Given the description of an element on the screen output the (x, y) to click on. 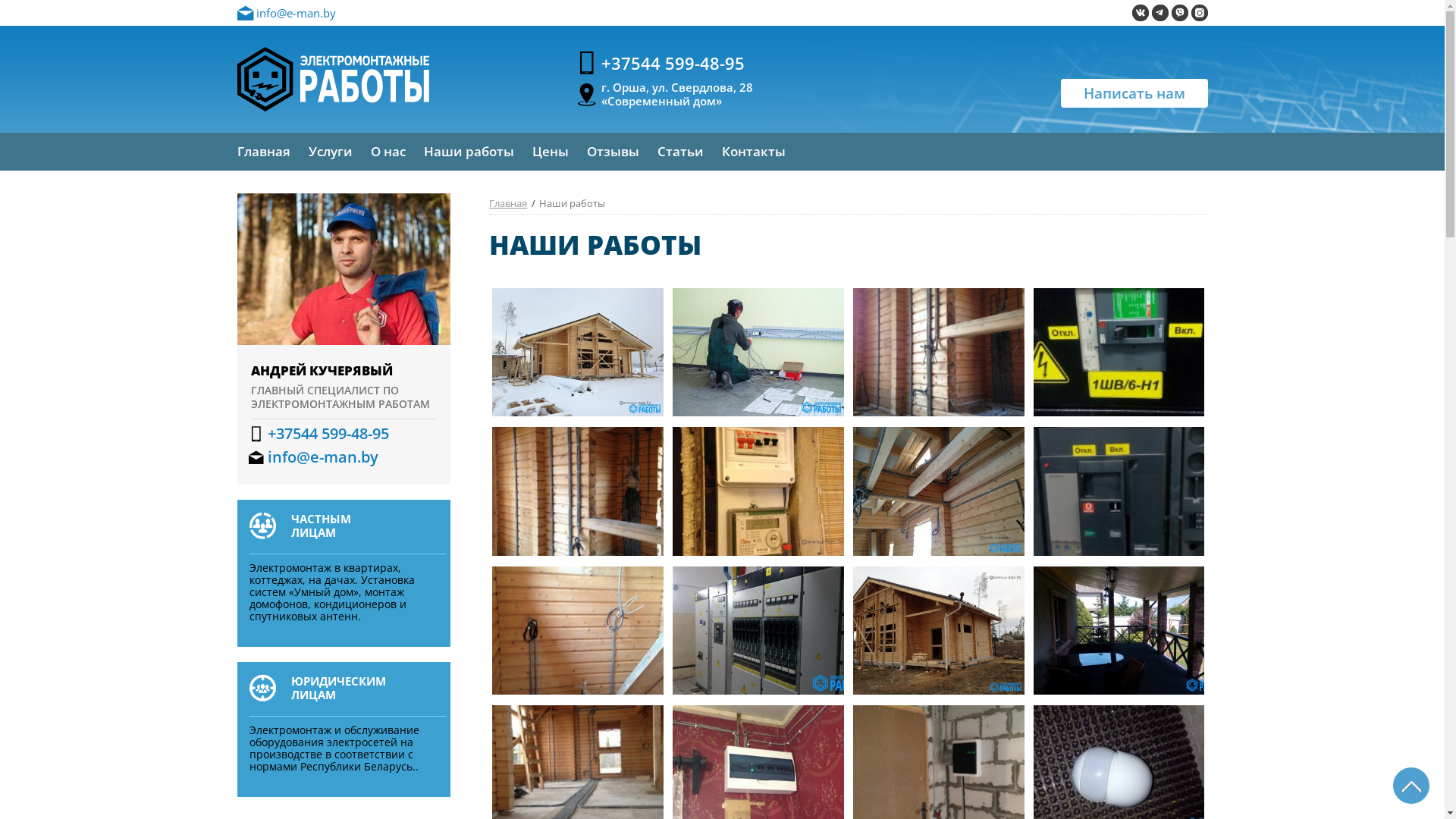
info@e-man.by Element type: text (343, 456)
info@e-man.by Element type: text (285, 12)
+37544 599-48-95 Element type: text (343, 432)
+37544 599-48-95 Element type: text (671, 64)
